Given the description of an element on the screen output the (x, y) to click on. 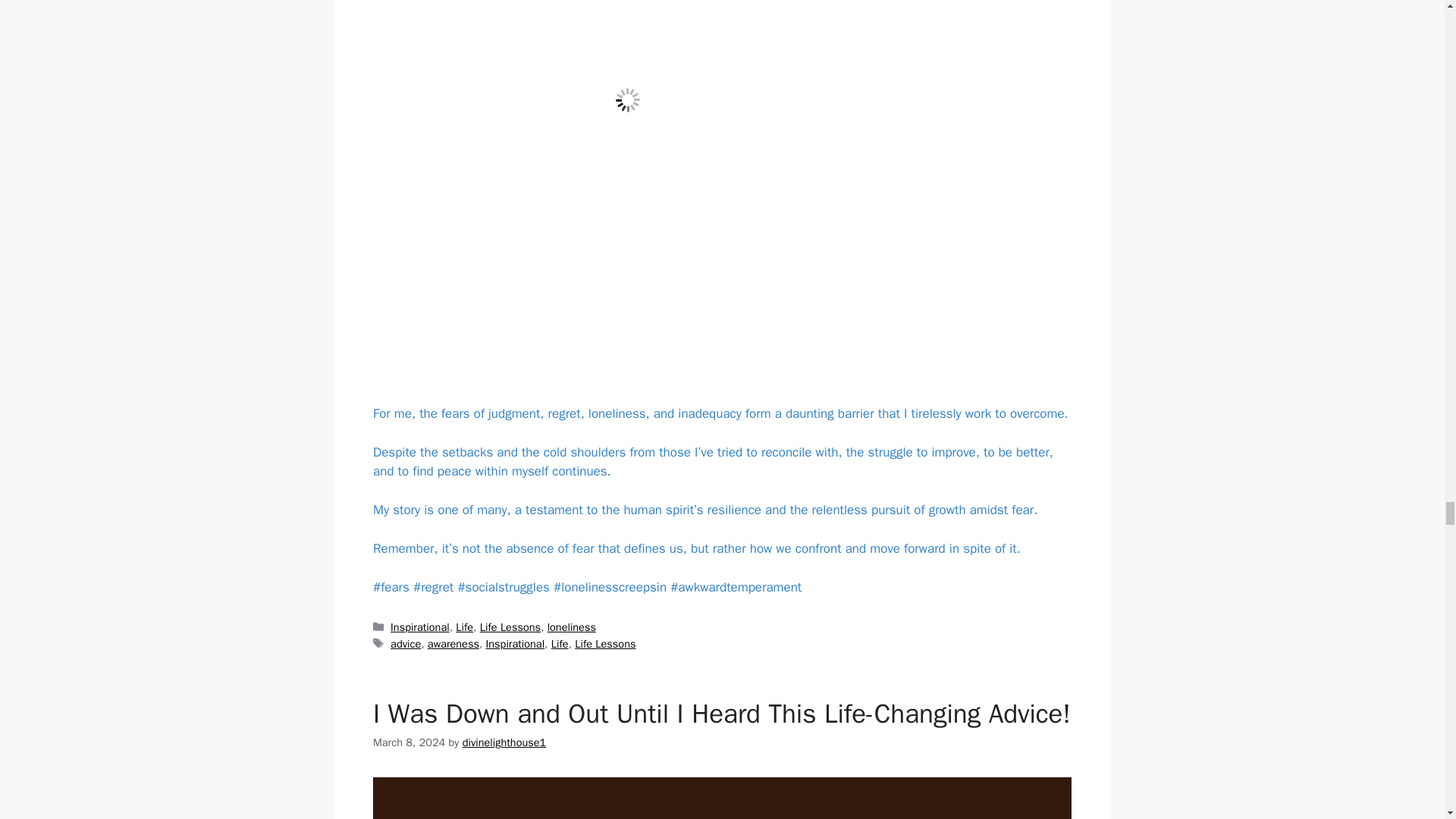
View all posts by divinelighthouse1 (504, 742)
